Given the description of an element on the screen output the (x, y) to click on. 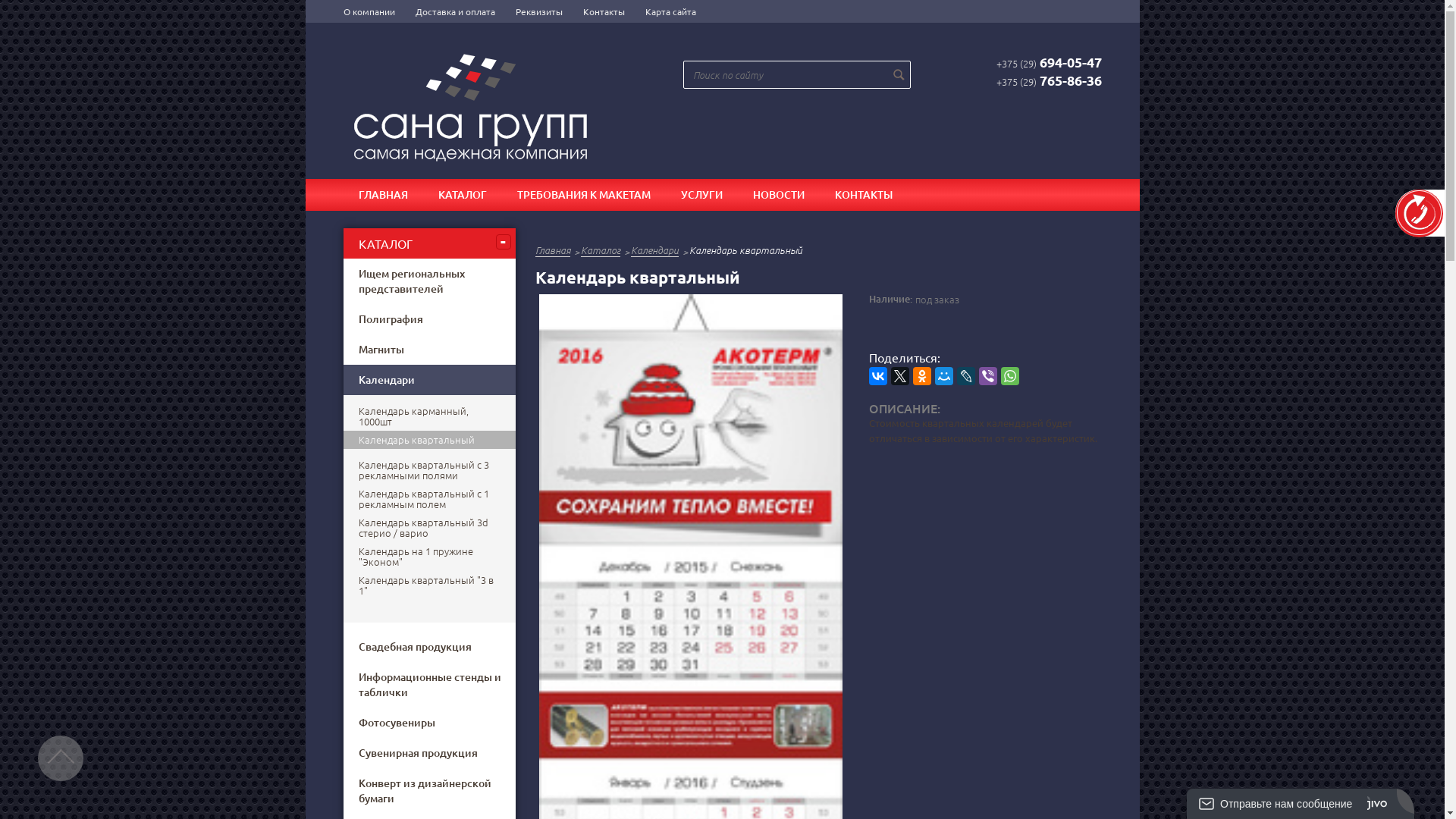
+375 (29)694-05-47 Element type: text (1048, 62)
Twitter Element type: hover (899, 376)
LiveJournal Element type: hover (966, 376)
Viber Element type: hover (987, 376)
WhatsApp Element type: hover (1010, 376)
+375 (29)765-86-36 Element type: text (1048, 80)
